Given the description of an element on the screen output the (x, y) to click on. 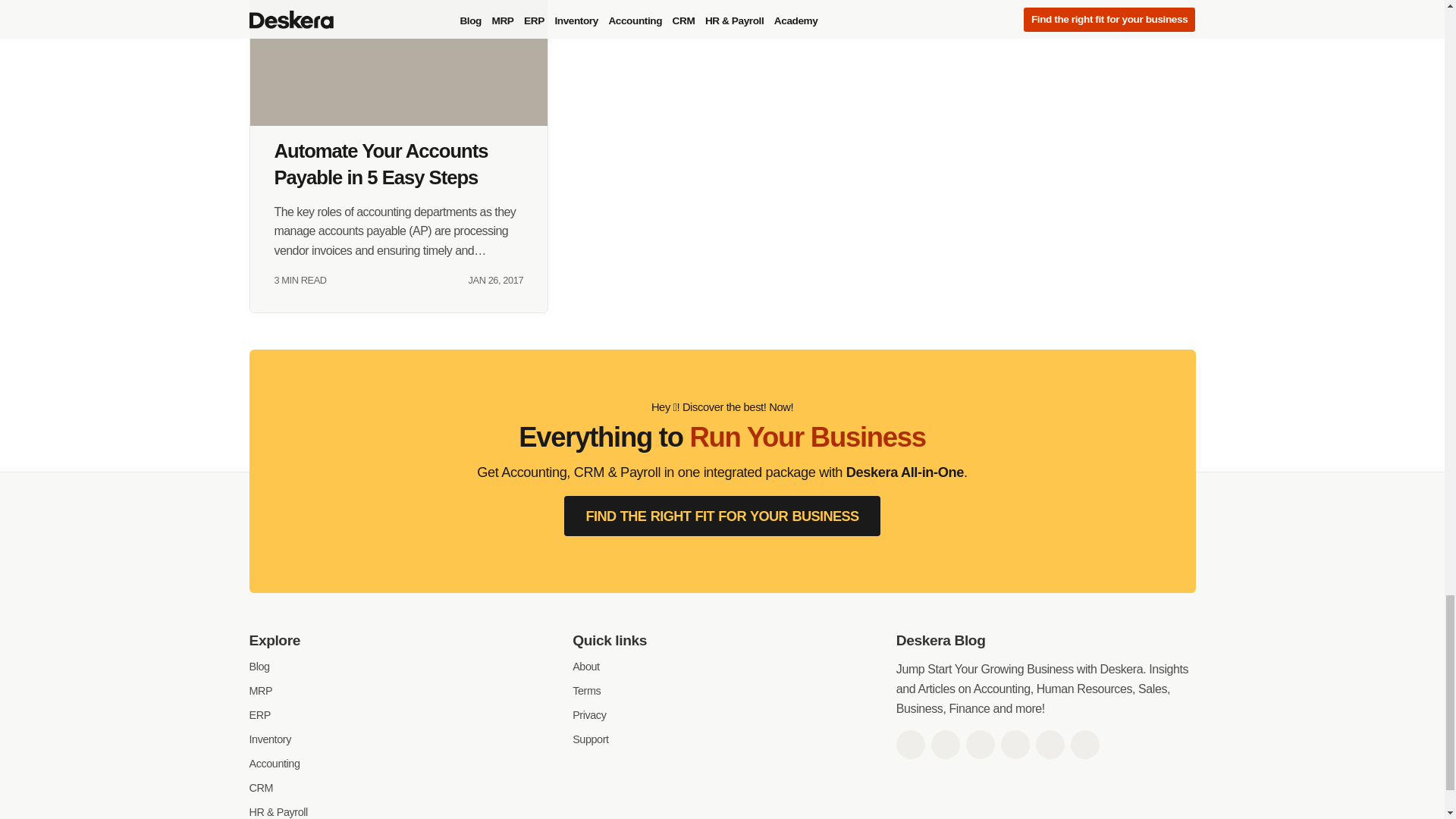
Automate Your Accounts Payable in 5 Easy Steps (399, 63)
Facebook (910, 744)
Twitter (945, 744)
Github (1049, 744)
Deskera YouTube (1015, 744)
RSS (1084, 744)
Deskera Linkedin (980, 744)
